Given the description of an element on the screen output the (x, y) to click on. 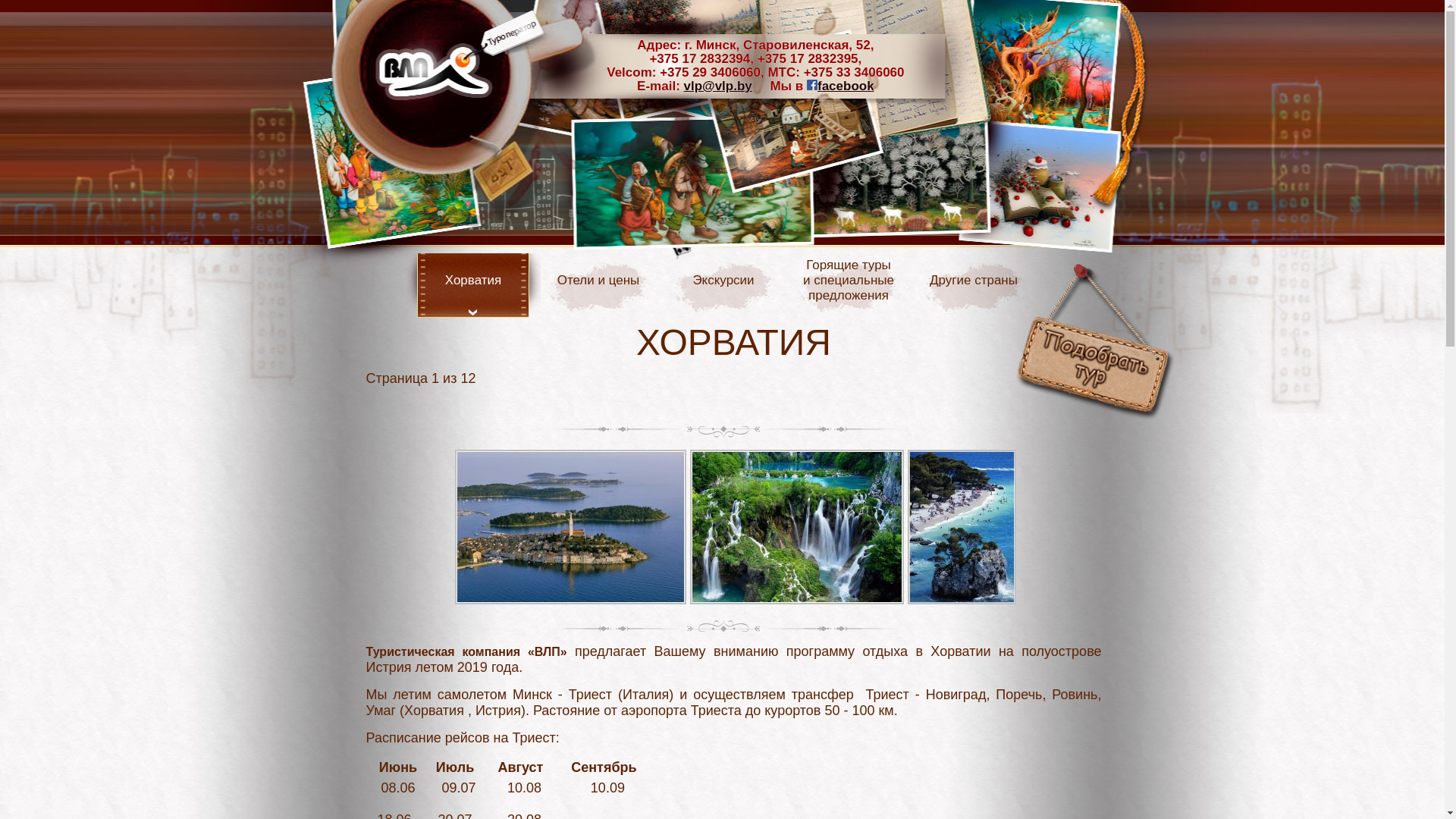
vlp@vlp.by Element type: text (718, 85)
facebook Element type: text (840, 85)
